Given the description of an element on the screen output the (x, y) to click on. 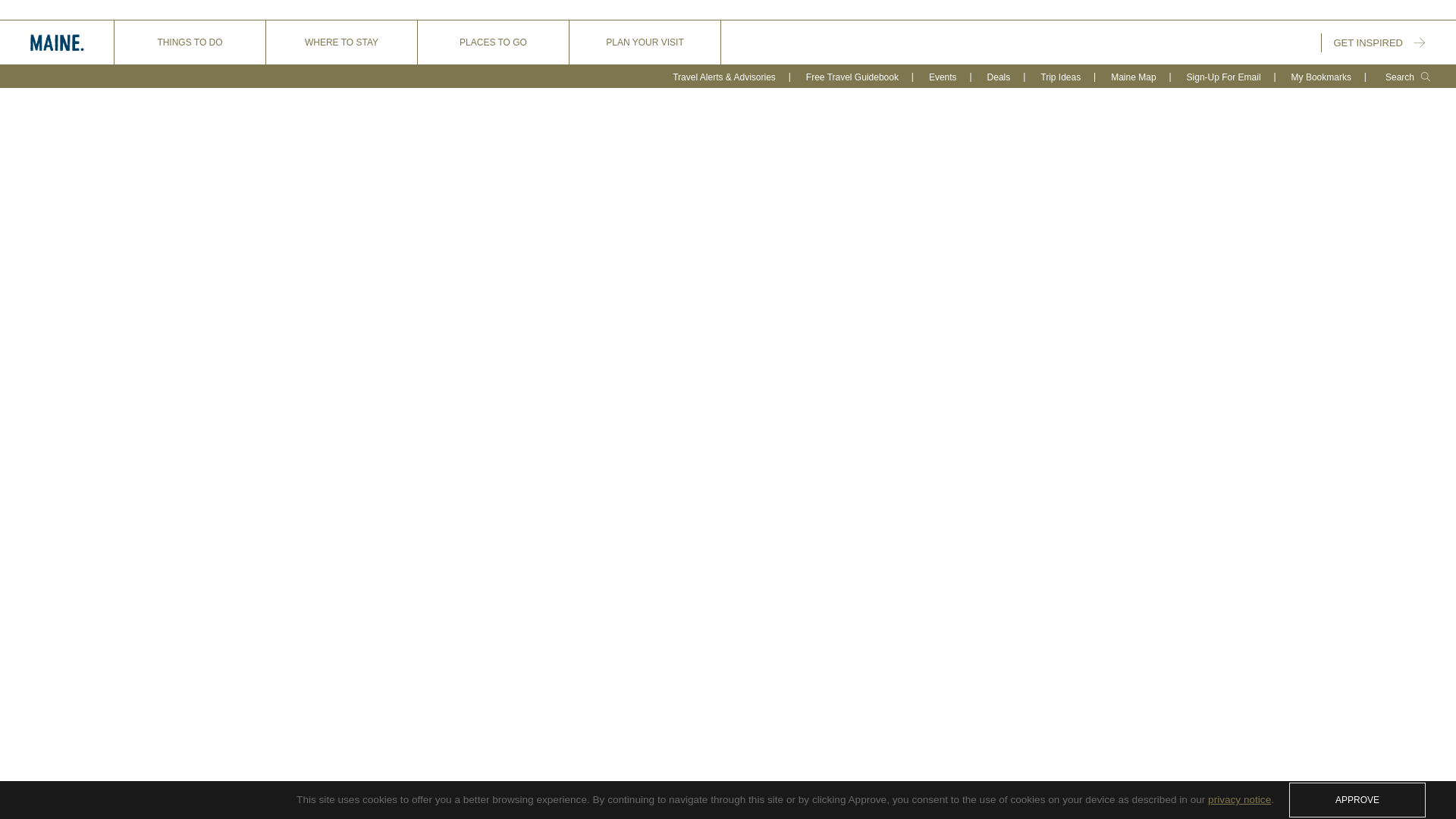
APPROVE (1356, 799)
privacy notice (1239, 799)
